Given the description of an element on the screen output the (x, y) to click on. 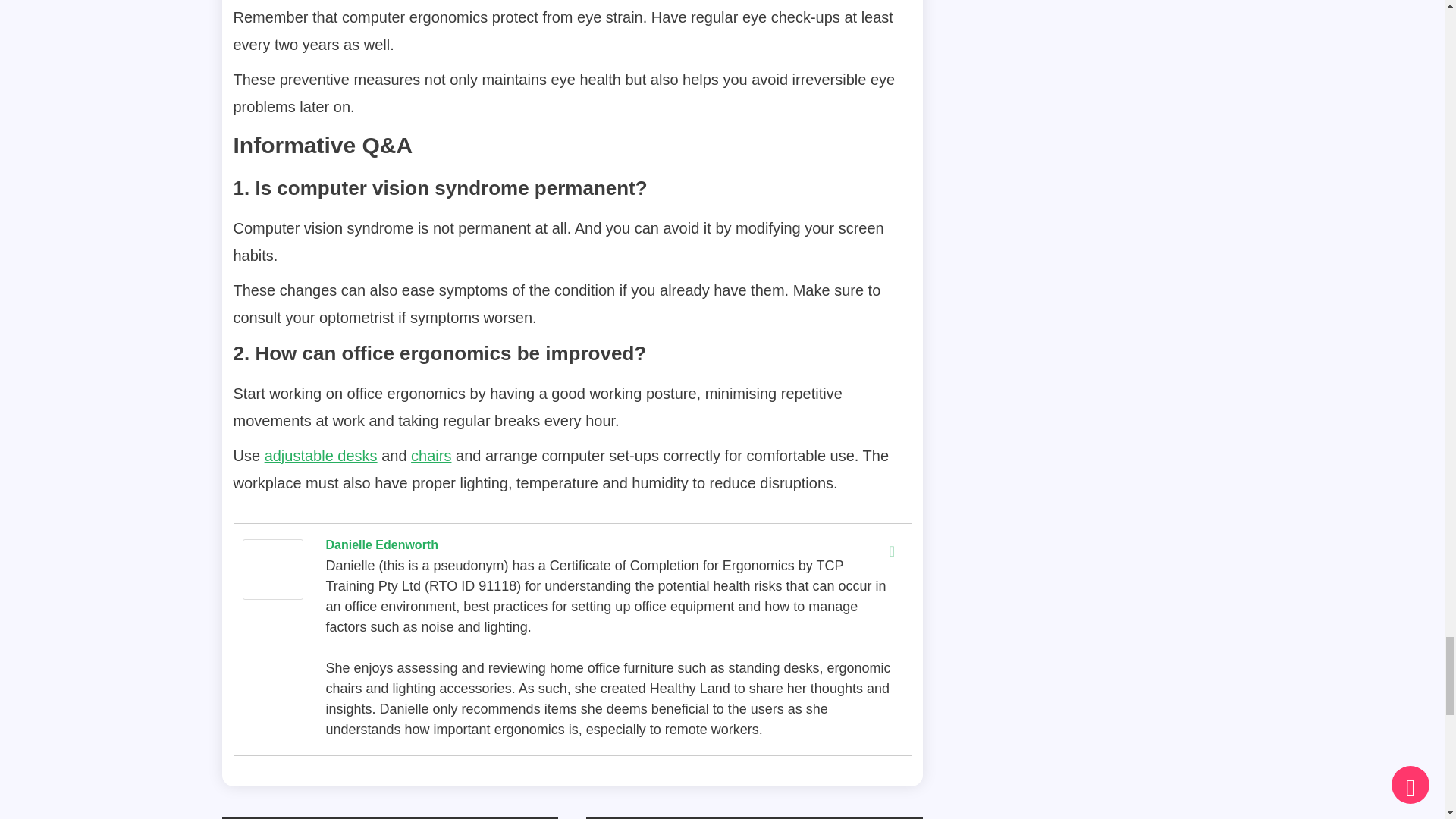
chairs (430, 455)
Danielle Edenworth (382, 544)
Facebook (891, 551)
adjustable desks (320, 455)
Danielle Edenworth (272, 567)
